Given the description of an element on the screen output the (x, y) to click on. 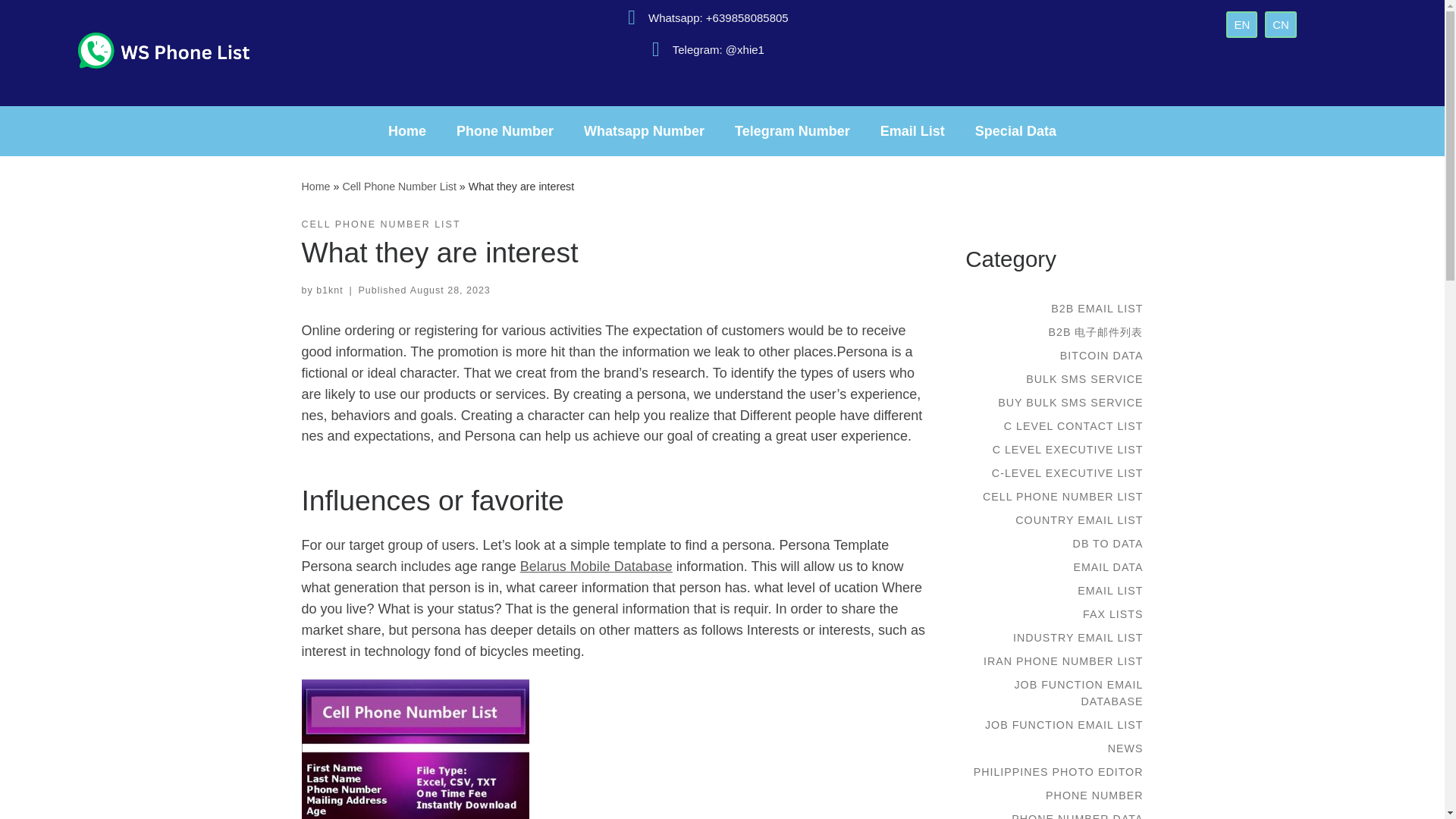
Home (315, 186)
CN (1281, 24)
Telegram Number (791, 130)
WS Phone List (315, 186)
4:07 am (450, 290)
View all posts in Cell Phone Number List (381, 224)
Home (406, 130)
View all posts by b1knt (329, 290)
Cell Phone Number List (399, 186)
EN (1241, 24)
CELL PHONE NUMBER LIST (381, 224)
August 28, 2023 (450, 290)
b1knt (329, 290)
Special Data (1015, 130)
Belarus Mobile Database (595, 566)
